Given the description of an element on the screen output the (x, y) to click on. 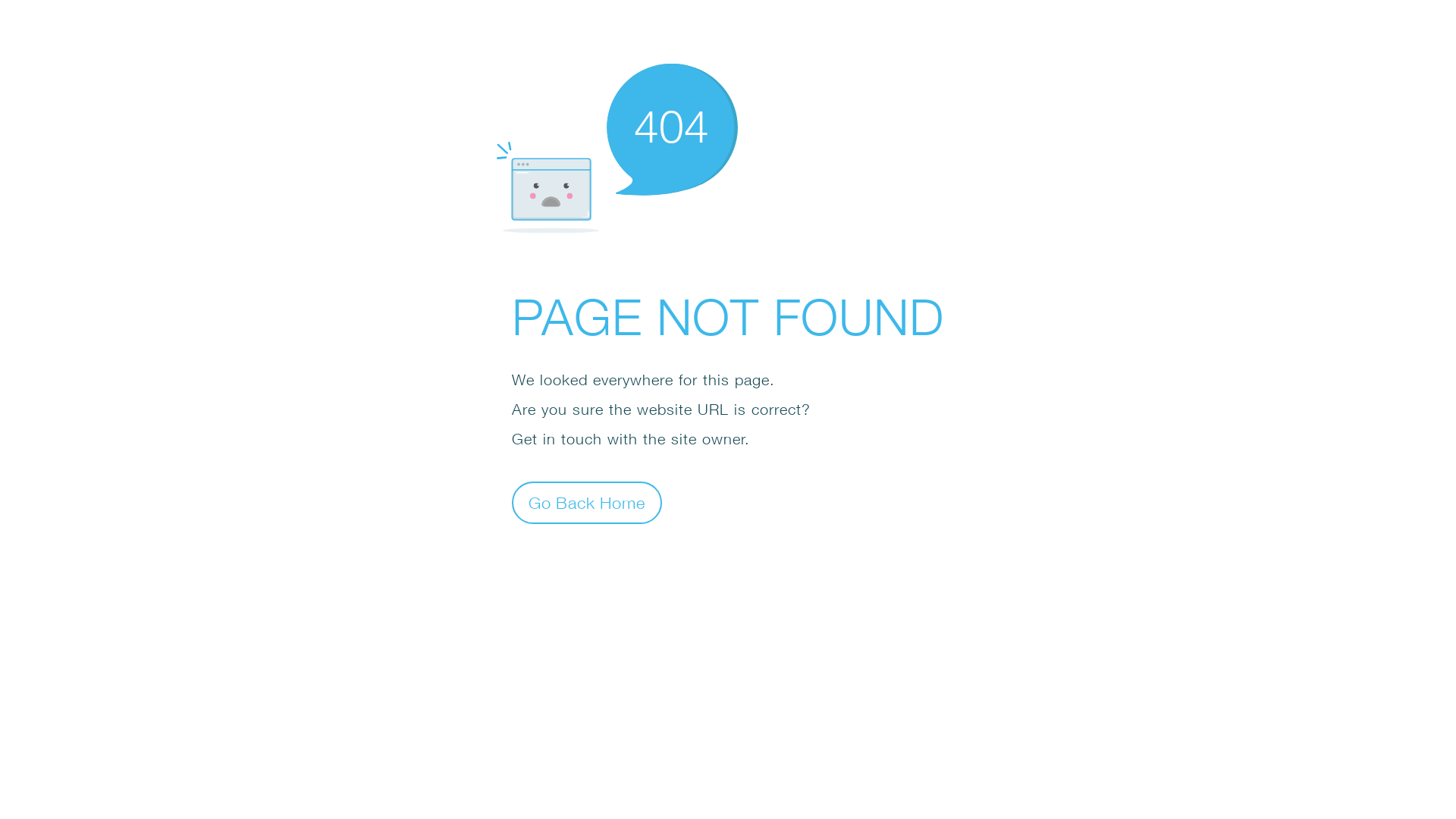
Go Back Home Element type: text (586, 502)
